Given the description of an element on the screen output the (x, y) to click on. 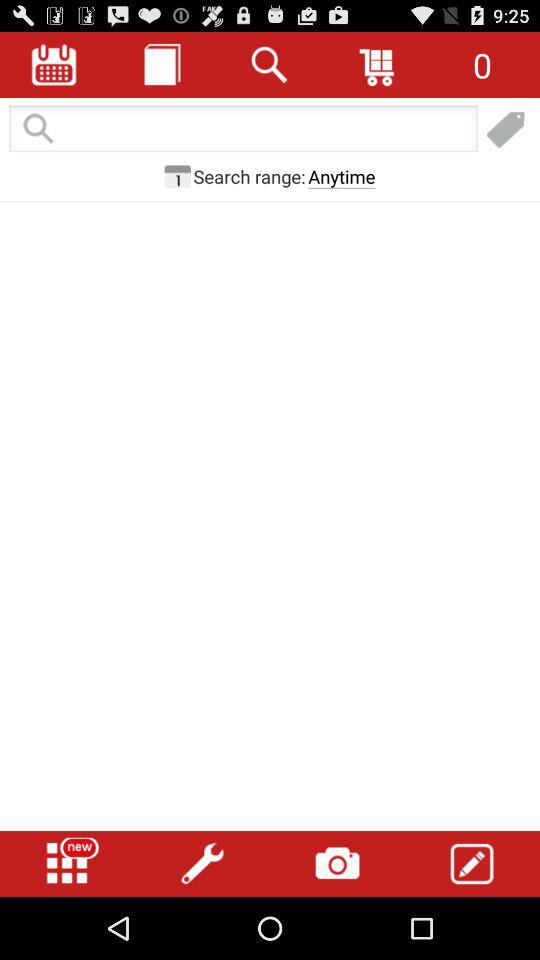
take photo (337, 863)
